Given the description of an element on the screen output the (x, y) to click on. 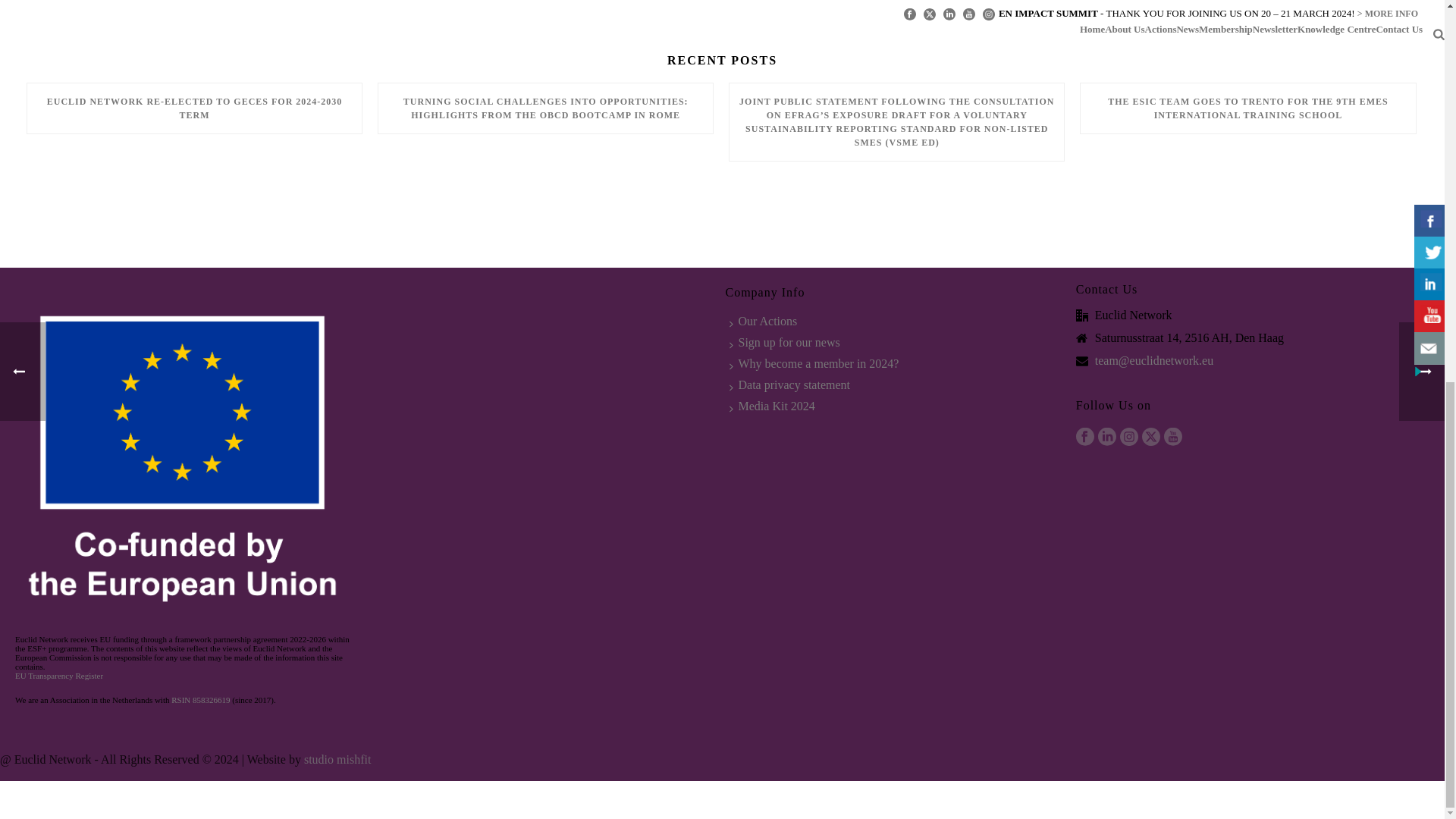
Follow Us on youtube (1172, 436)
Follow Us on facebook (1084, 436)
Follow Us on linkedin (1106, 436)
Follow Us on twitter (1150, 436)
Follow Us on instagram (1128, 436)
